Given the description of an element on the screen output the (x, y) to click on. 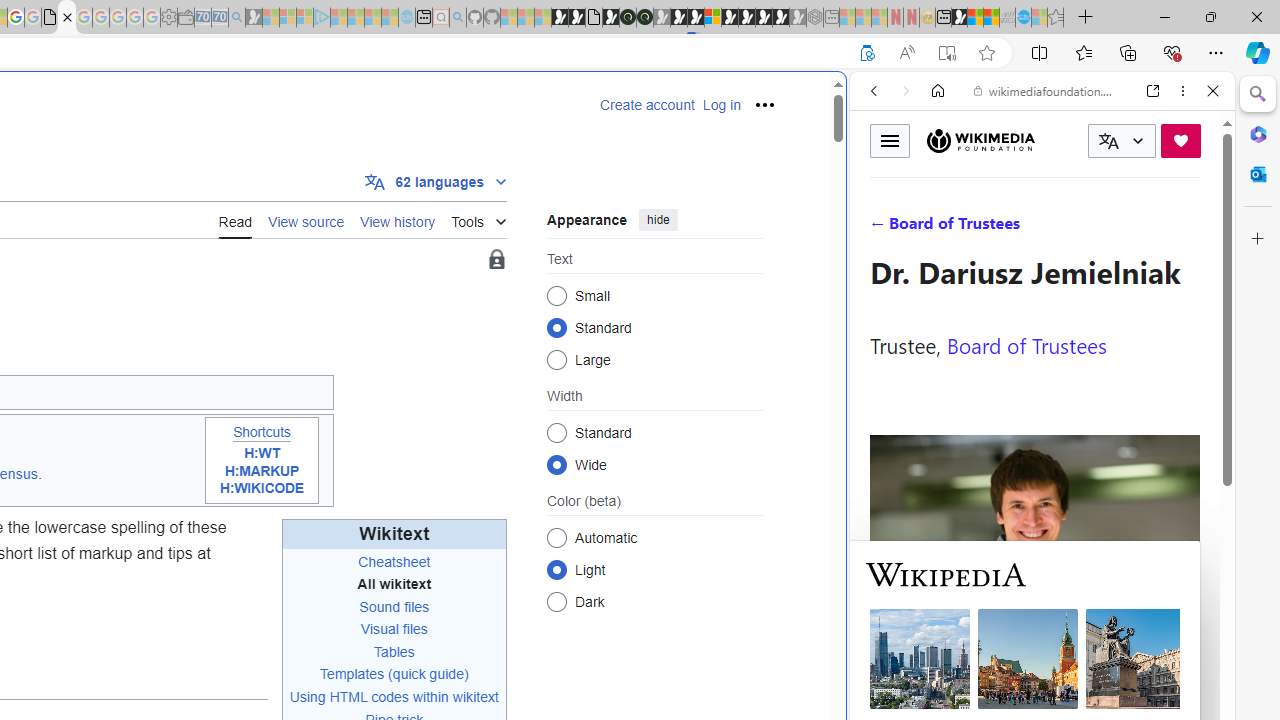
View source (306, 219)
Sign in to your account (712, 17)
Standard (556, 431)
Visual files (393, 628)
H:WT (262, 453)
H:WIKICODE (262, 488)
